Given the description of an element on the screen output the (x, y) to click on. 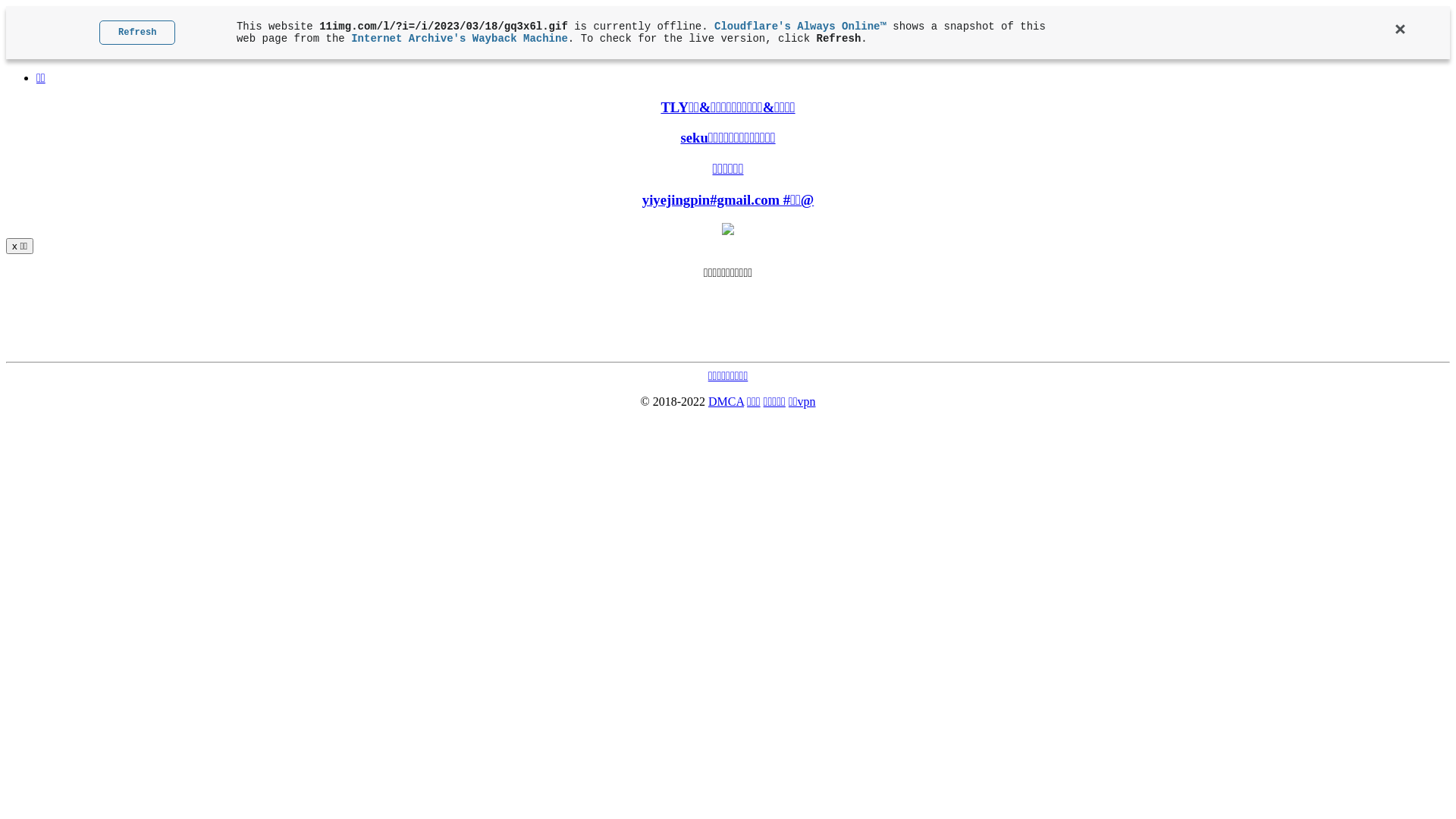
Refresh Element type: text (137, 32)
Internet Archive's Wayback Machine Element type: text (459, 38)
DMCA Element type: text (725, 401)
